Given the description of an element on the screen output the (x, y) to click on. 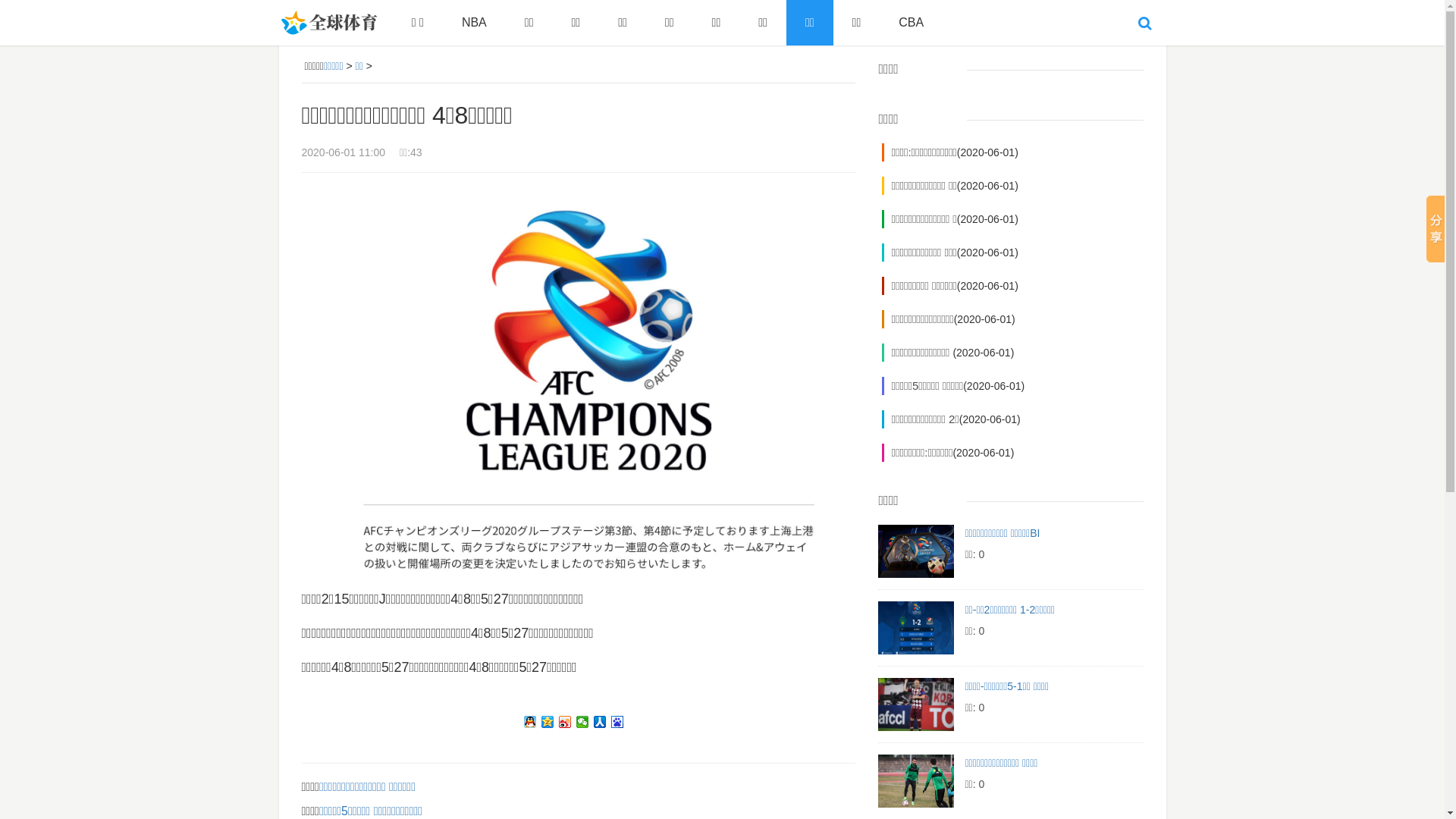
CBA Element type: text (910, 22)
NBA Element type: text (473, 22)
